Given the description of an element on the screen output the (x, y) to click on. 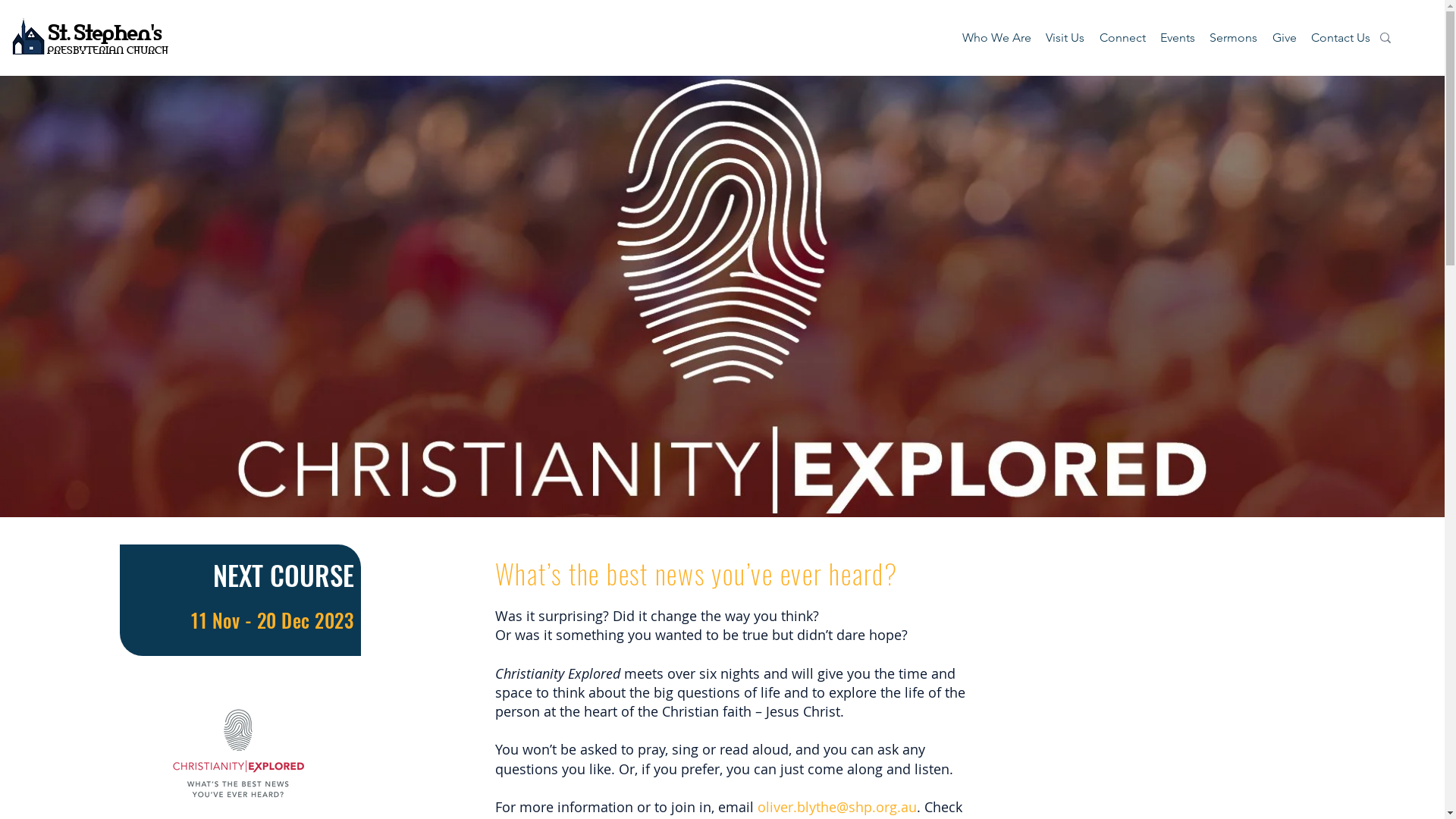
Who We Are Element type: text (996, 37)
PRESBYTERIAN CHURCH Element type: text (107, 48)
Sermons Element type: text (1233, 37)
Contact Us Element type: text (1340, 37)
Give Element type: text (1283, 37)
Visit Us Element type: text (1064, 37)
oliver.blythe@shp.org.au Element type: text (836, 806)
St. Stephen's Element type: text (104, 31)
Events Element type: text (1176, 37)
